Given the description of an element on the screen output the (x, y) to click on. 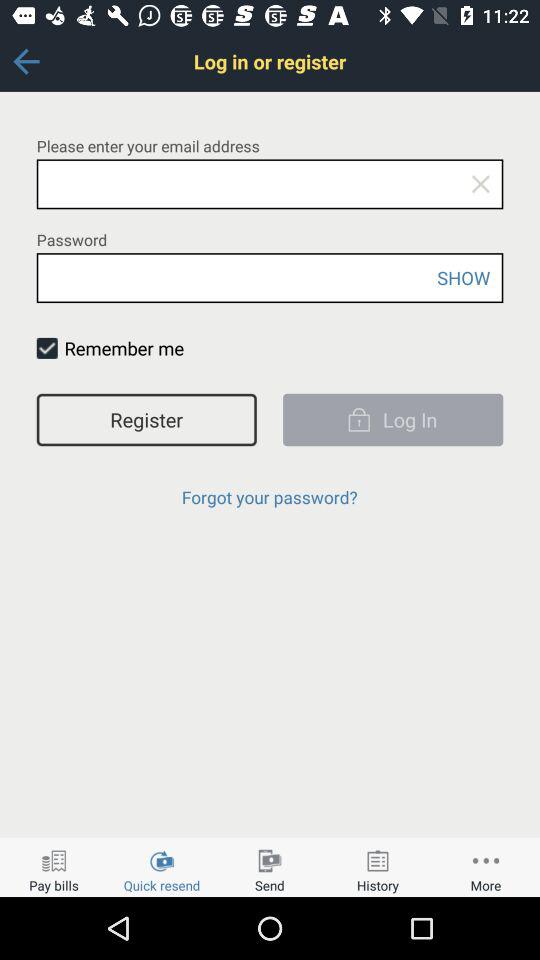
tap app to the left of log in or icon (26, 61)
